Given the description of an element on the screen output the (x, y) to click on. 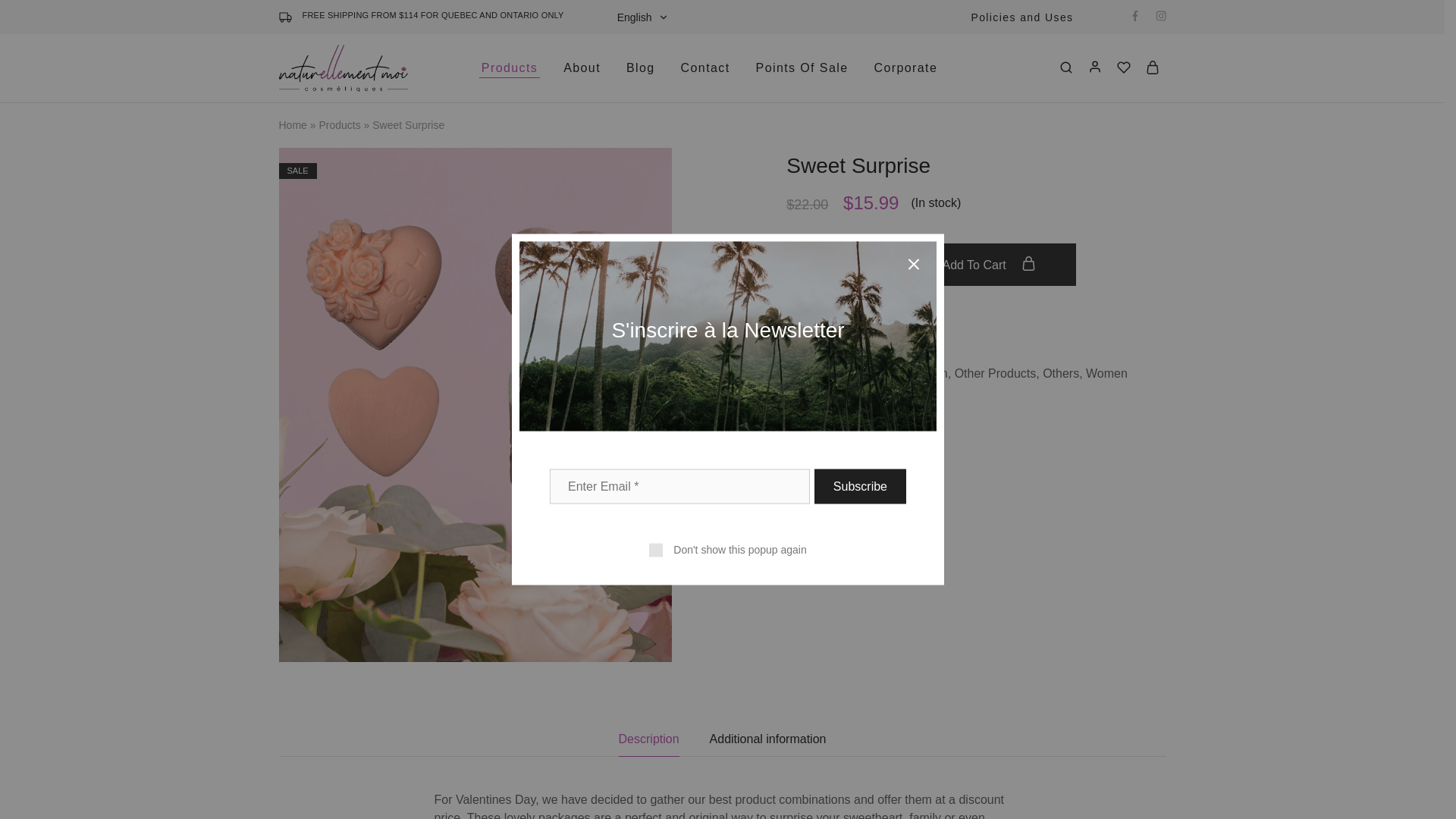
Policies and Uses (1021, 17)
Add to wishlist (858, 317)
Women (1106, 373)
Other Products (995, 373)
Points Of Sale (802, 67)
Men (935, 373)
Body Care (888, 373)
Subscribe (859, 485)
Blog (641, 67)
Others (1060, 373)
Add To Cart (988, 264)
About (581, 67)
Products (338, 124)
Home (293, 124)
Corporate (904, 67)
